Given the description of an element on the screen output the (x, y) to click on. 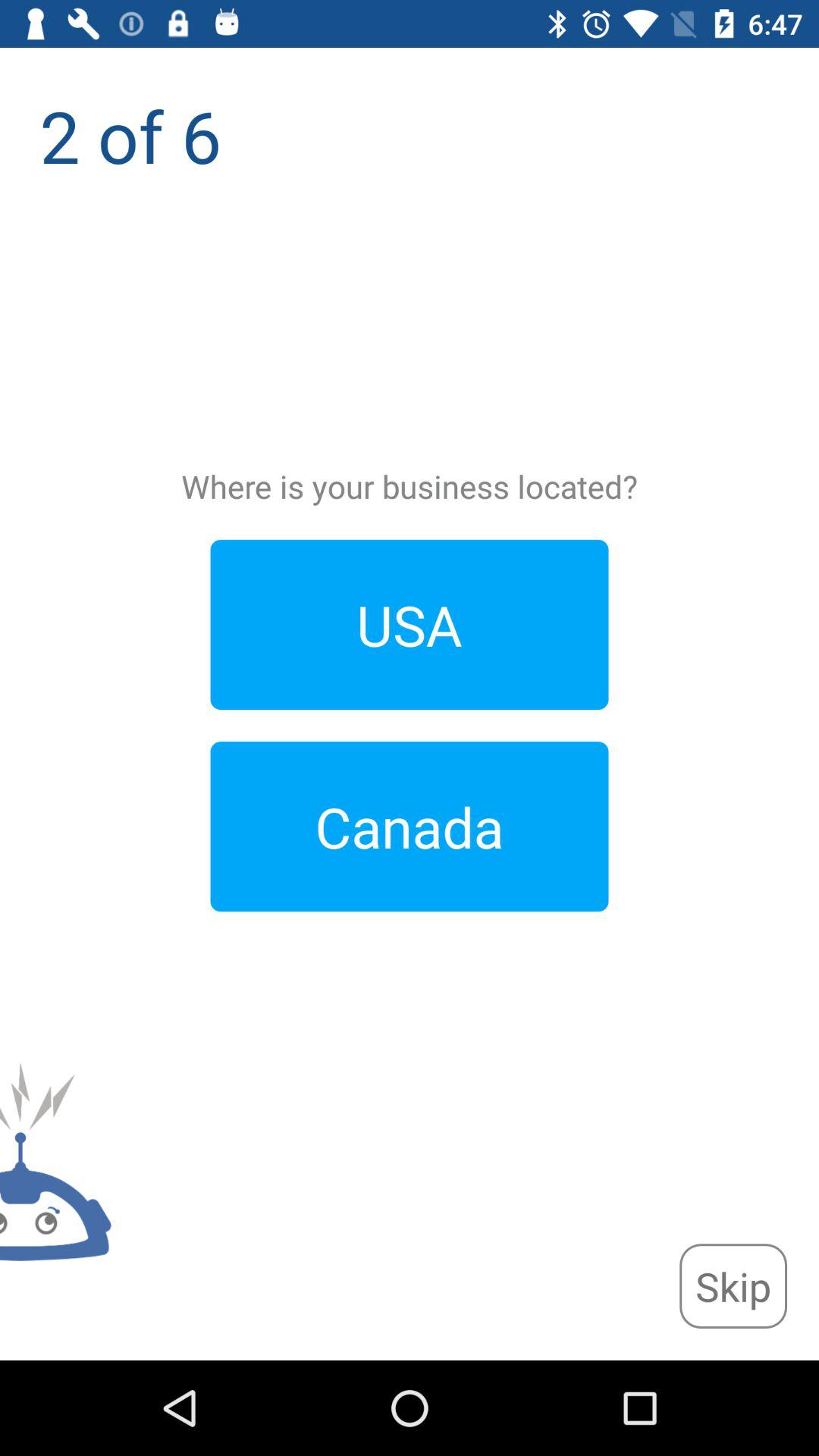
flip to the usa item (409, 624)
